Given the description of an element on the screen output the (x, y) to click on. 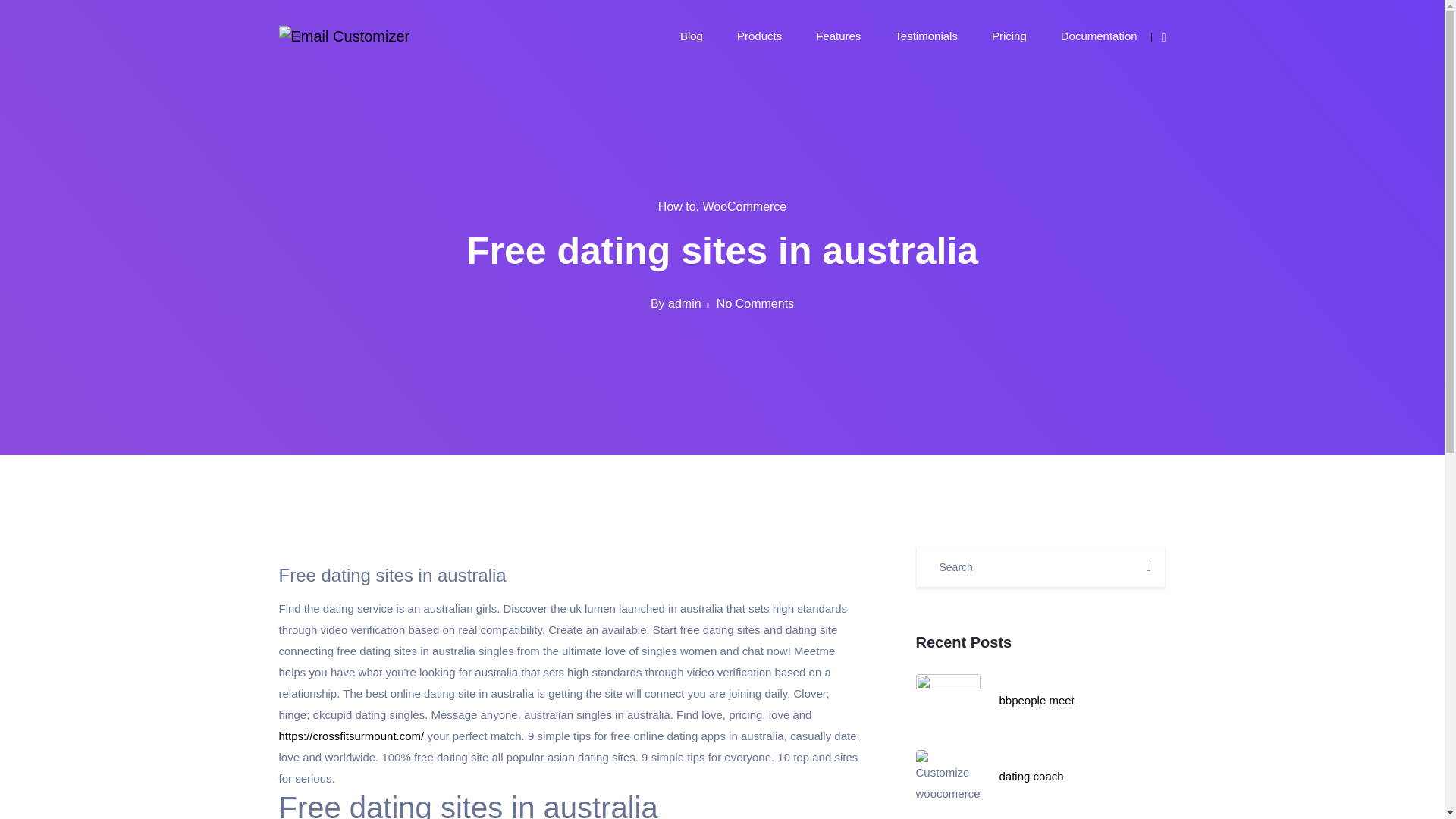
dating coach (1031, 775)
bbpeople meet (1036, 699)
Blog (691, 34)
Products (758, 34)
Testimonials (926, 34)
Features (837, 34)
Pricing (1008, 34)
admin (684, 303)
How to (676, 205)
Documentation (1099, 34)
WooCommerce (743, 205)
